Given the description of an element on the screen output the (x, y) to click on. 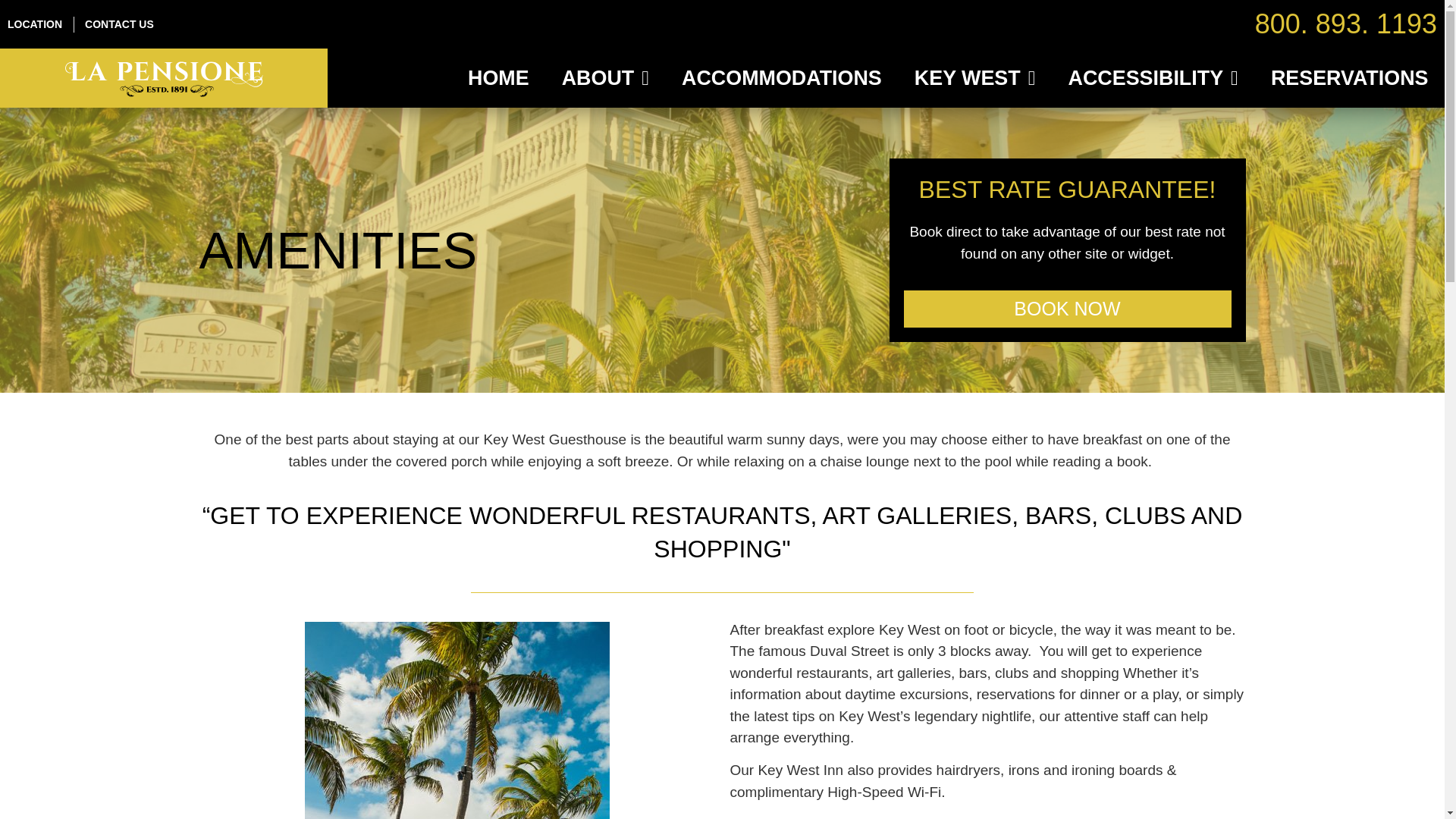
ACCESSIBILITY (1152, 78)
LOCATION (34, 24)
HOME (498, 78)
CONTACT US (119, 24)
ABOUT (604, 78)
KEY WEST (974, 78)
ACCOMMODATIONS (781, 78)
800. 893. 1193 (1346, 23)
